Given the description of an element on the screen output the (x, y) to click on. 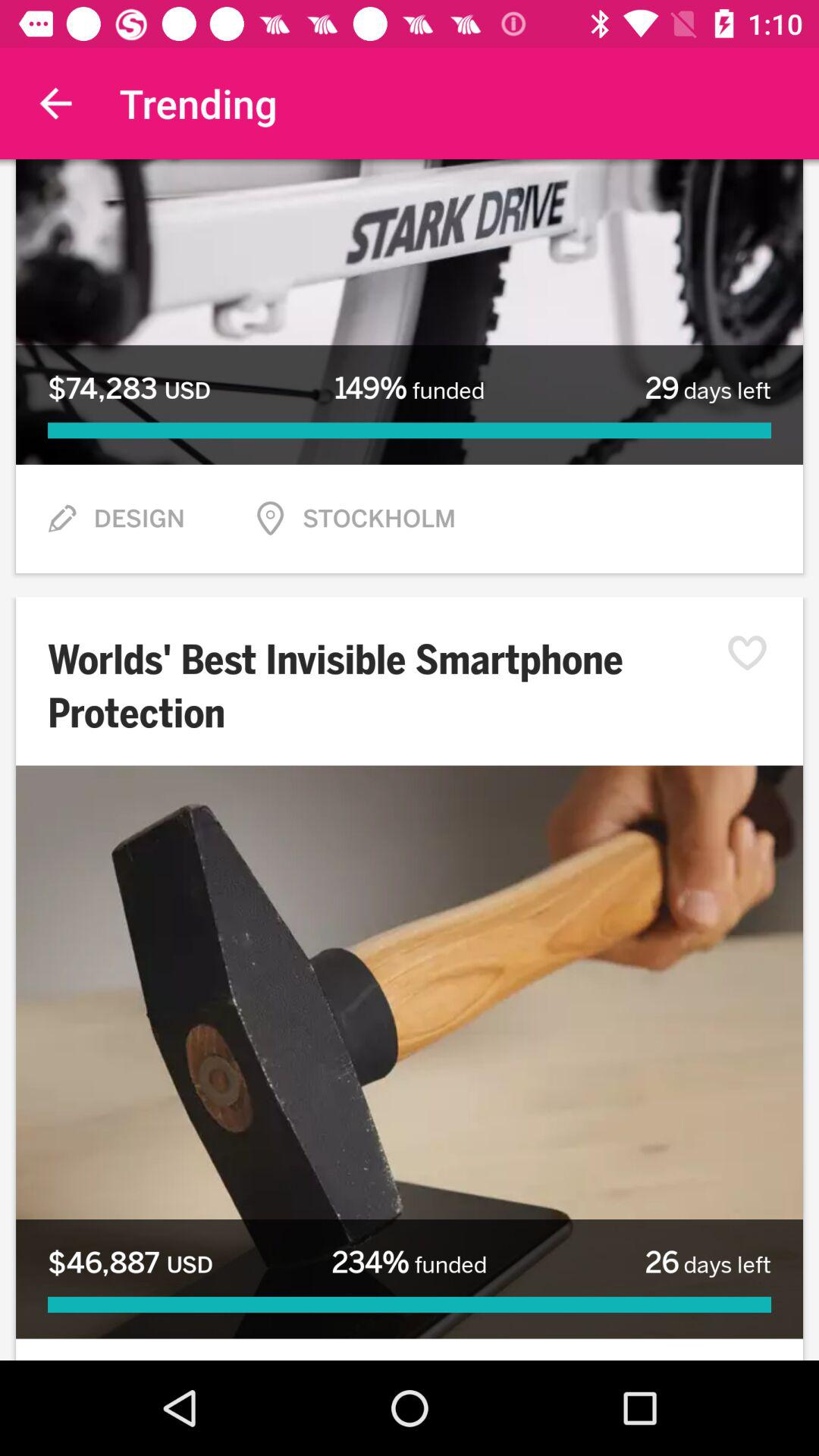
jump until the $46,887 usd (129, 1262)
